Given the description of an element on the screen output the (x, y) to click on. 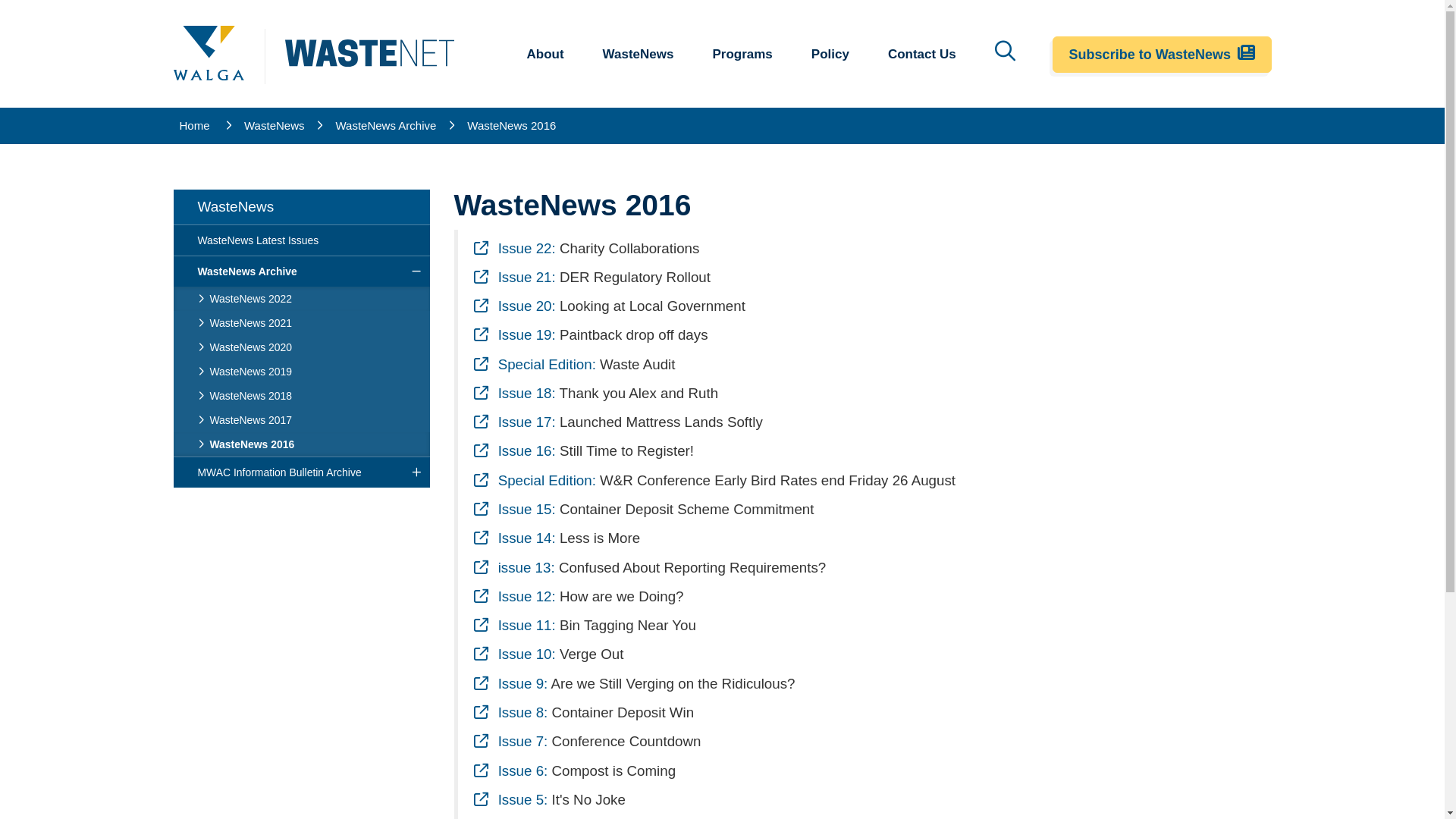
issue 13: Element type: text (513, 567)
Issue 20: Element type: text (514, 305)
WasteNews Element type: text (300, 206)
WasteNews 2018 Element type: text (300, 395)
WasteNews 2017 Element type: text (300, 419)
Home Element type: text (195, 125)
Issue 15: Element type: text (514, 509)
WasteNews 2016 Element type: text (300, 444)
WasteNews Element type: text (274, 125)
Issue 21: Element type: text (514, 277)
Issue 10: Element type: text (514, 654)
Issue 6: Element type: text (510, 770)
Issue 14: Element type: text (514, 538)
WasteNews 2022 Element type: text (300, 298)
WasteNews 2016 Element type: text (511, 125)
Special Edition: Element type: text (534, 480)
WasteNews Archive Element type: text (385, 125)
Issue 17: Element type: text (514, 421)
About Element type: text (549, 54)
Issue 9: Element type: text (510, 683)
Issue 22: Element type: text (514, 248)
Issue 8: Element type: text (510, 712)
Issue 18: Element type: text (514, 393)
WasteNews 2021 Element type: text (300, 322)
WasteNews 2019 Element type: text (300, 371)
MWAC Information Bulletin Archive Element type: text (300, 472)
WasteNews Latest Issues Element type: text (300, 240)
Policy Element type: text (834, 54)
Contact Us Element type: text (926, 54)
Programs Element type: text (746, 54)
WasteNews Archive Element type: text (300, 271)
Issue 19: Element type: text (514, 334)
Issue 5: Element type: text (510, 799)
Issue 12: Element type: text (514, 596)
Issue 7: Element type: text (510, 741)
Issue 11: Element type: text (514, 625)
Special Edition: Element type: text (534, 364)
Issue 16: Element type: text (514, 450)
Website Search Element type: hover (1005, 50)
WasteNews 2020 Element type: text (300, 347)
Subscribe to WasteNews Element type: text (1161, 54)
WasteNews Element type: text (643, 54)
